Given the description of an element on the screen output the (x, y) to click on. 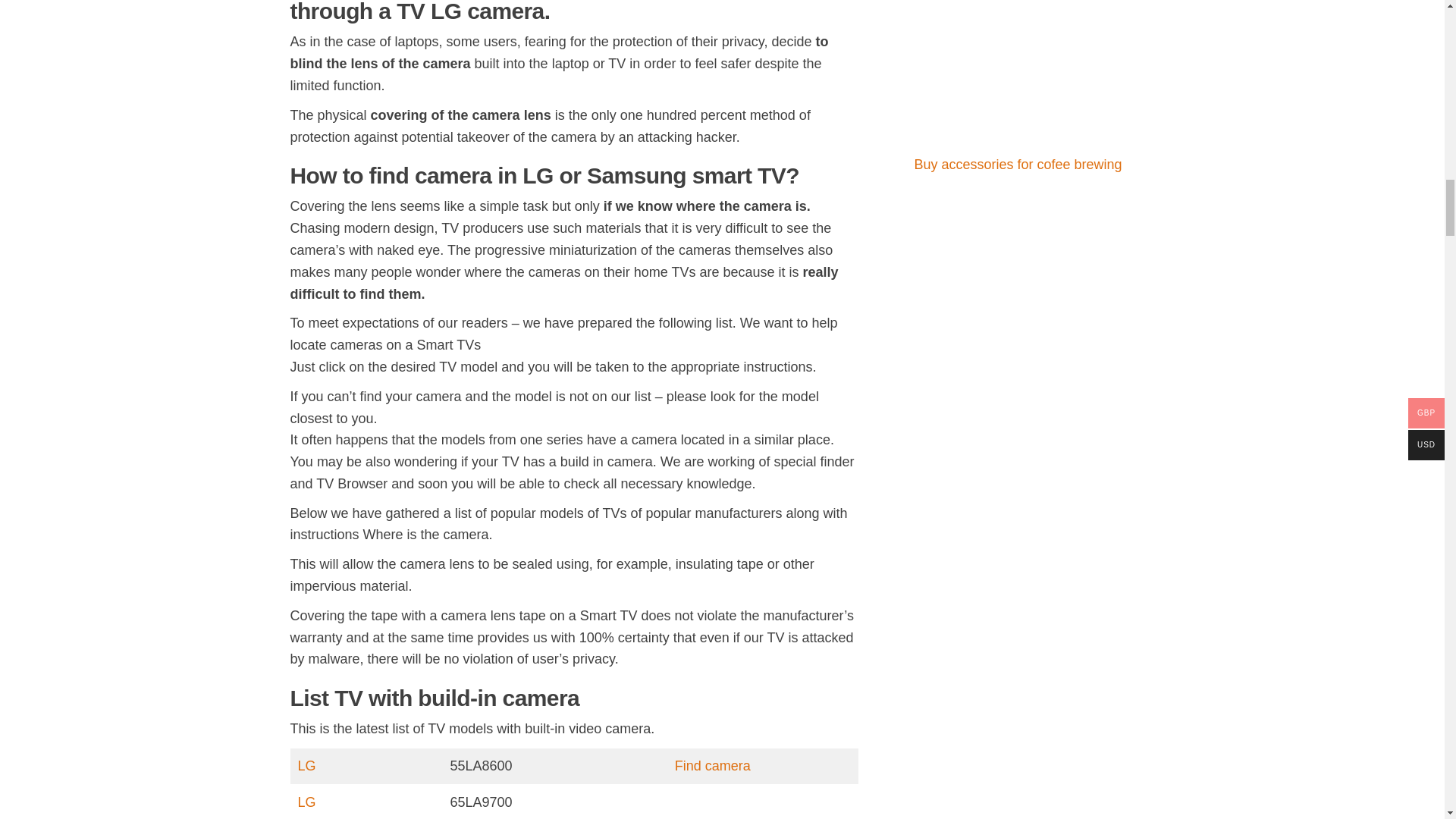
LG (306, 765)
Find camera (713, 765)
How to track car with licence plate number (1017, 7)
LG (306, 801)
Best shop with coffee machines and grinders on-line (1017, 108)
